Given the description of an element on the screen output the (x, y) to click on. 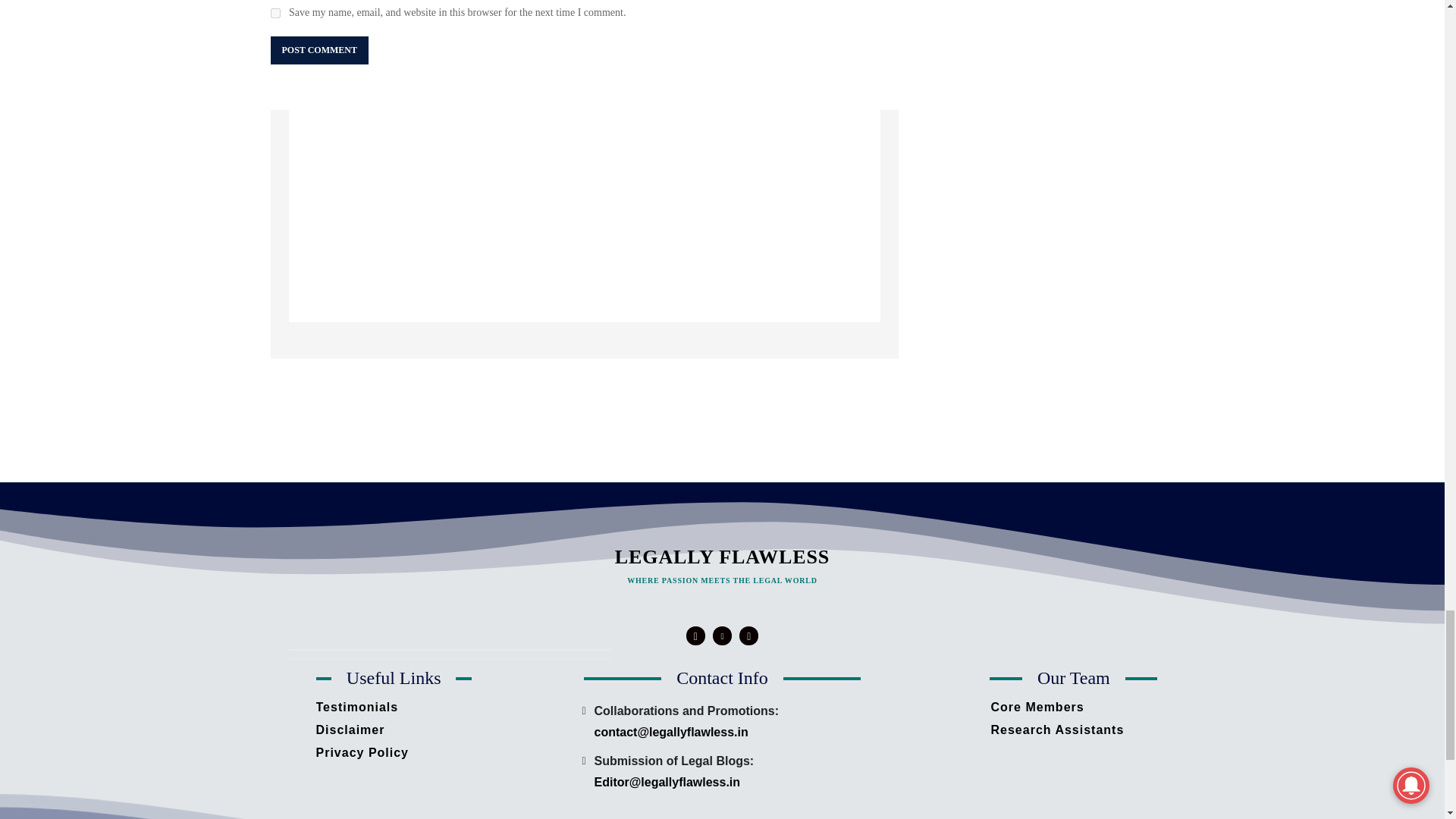
yes (274, 13)
Post Comment (318, 50)
